Given the description of an element on the screen output the (x, y) to click on. 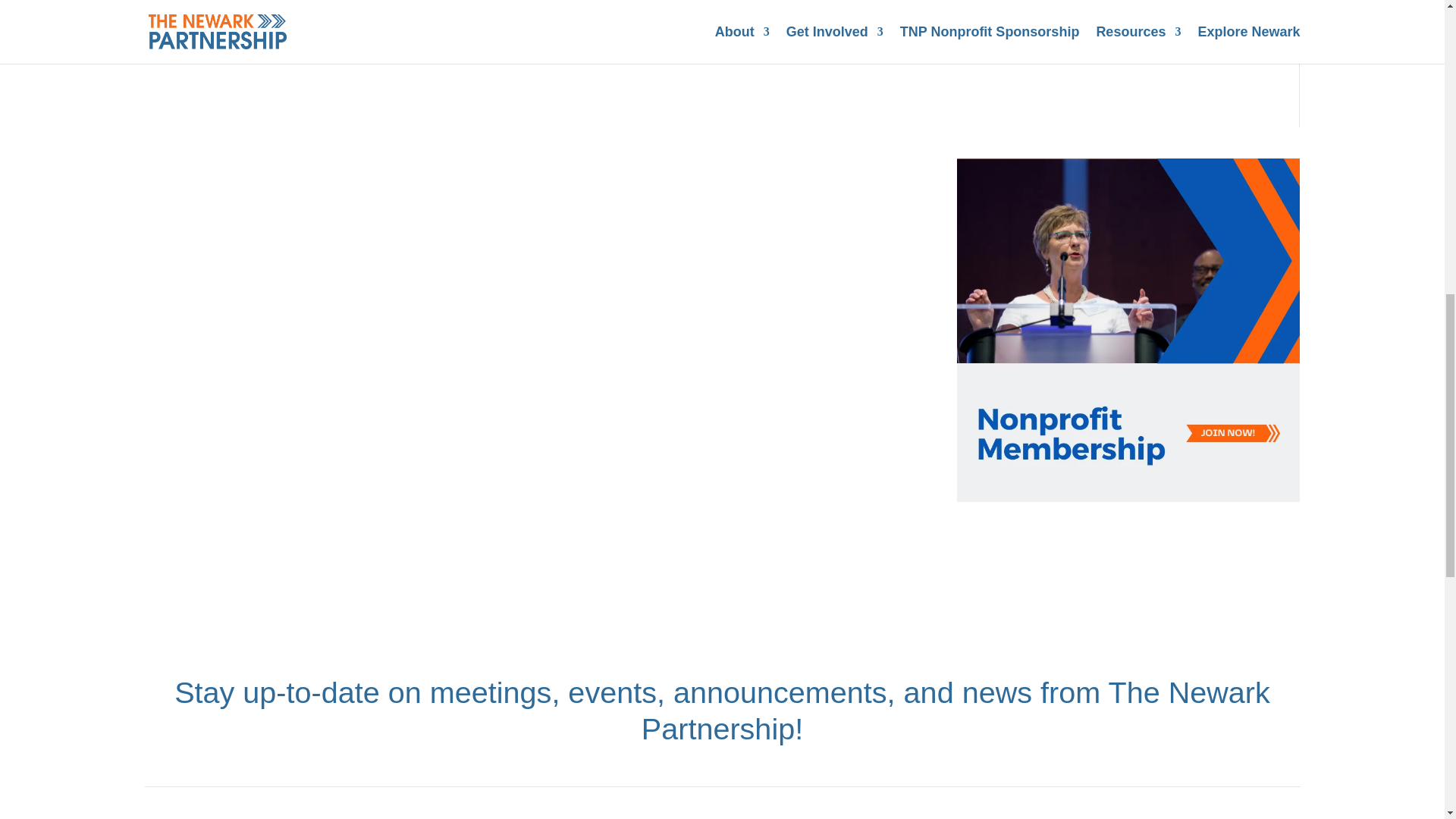
Sustainable Newark (1028, 48)
Nonprofits (999, 19)
TNP Nonprofit Membership (1128, 497)
